Given the description of an element on the screen output the (x, y) to click on. 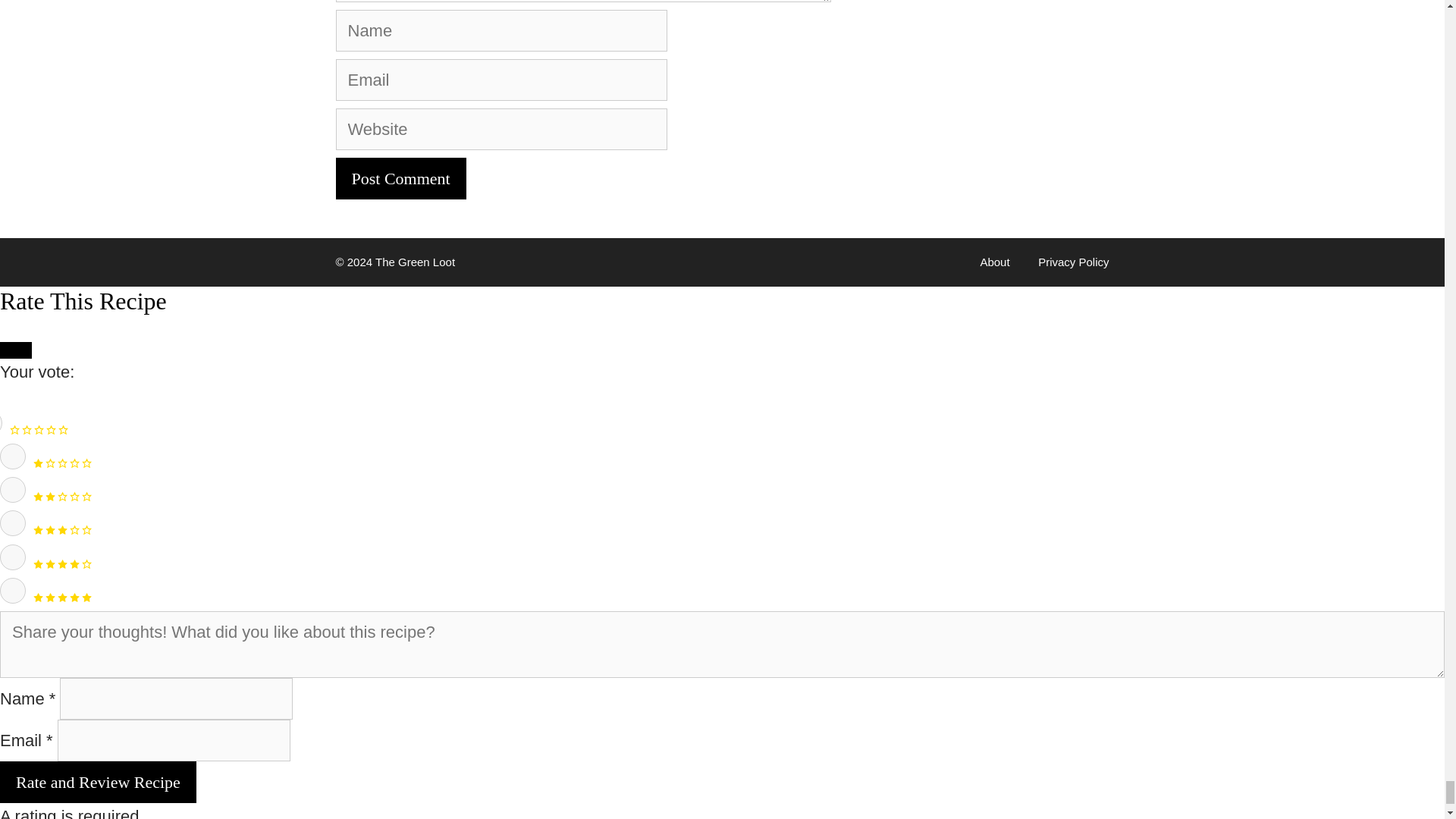
5 (13, 590)
2 (13, 489)
4 (13, 557)
3 (13, 523)
1 (13, 456)
Post Comment (399, 178)
